Given the description of an element on the screen output the (x, y) to click on. 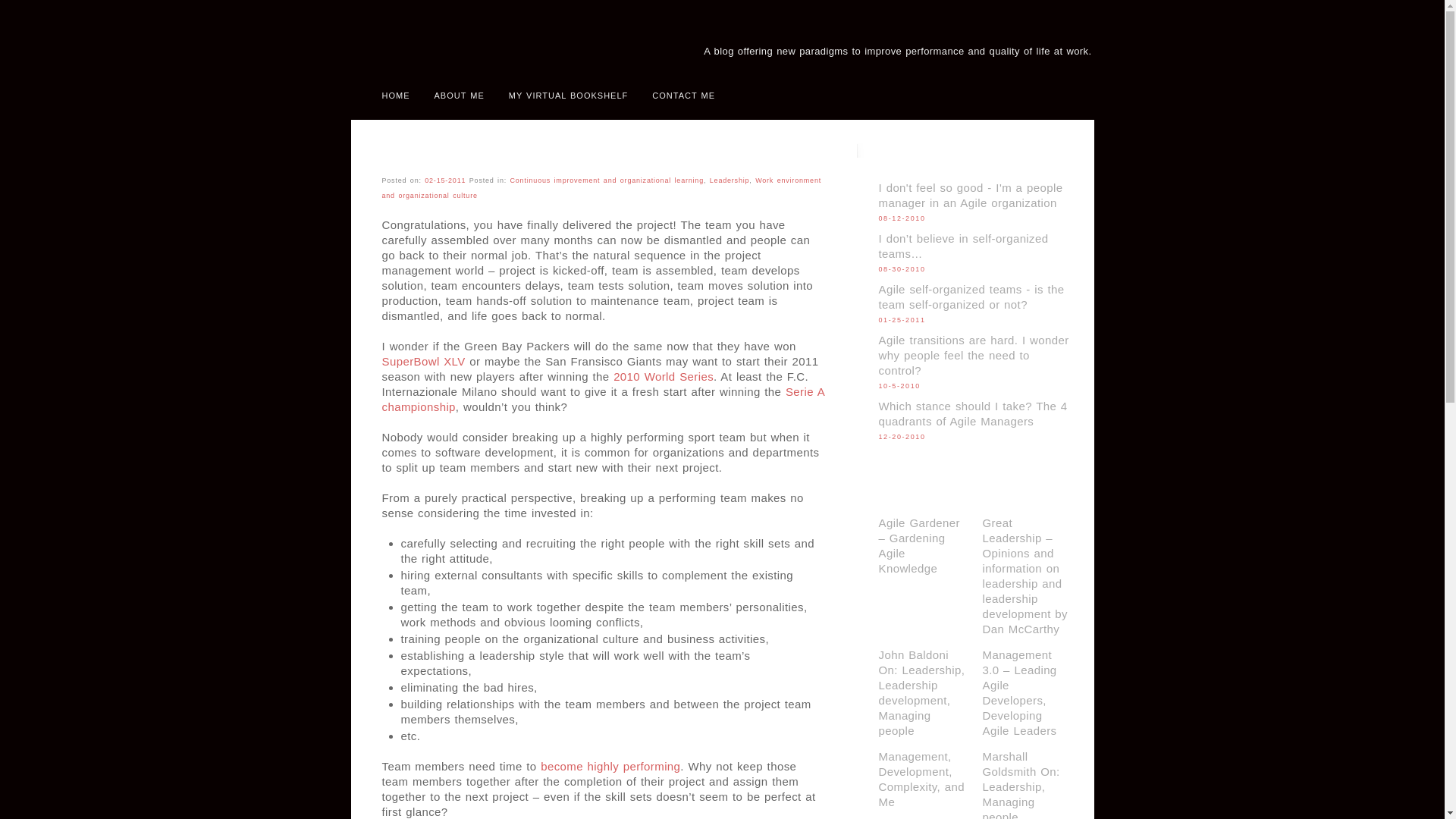
My Virtual Bookshelf (568, 96)
become highly performing (609, 766)
About Me (459, 96)
Contact Me (683, 96)
View all posts in Leadership (729, 180)
02-15-2011 (445, 180)
SuperBowl XLV (423, 360)
Continuous improvement and organizational learning (607, 180)
HOME (395, 96)
08-30-2010 (900, 268)
ABOUT ME (459, 96)
Serie A championship (603, 398)
MY VIRTUAL BOOKSHELF (568, 96)
